Given the description of an element on the screen output the (x, y) to click on. 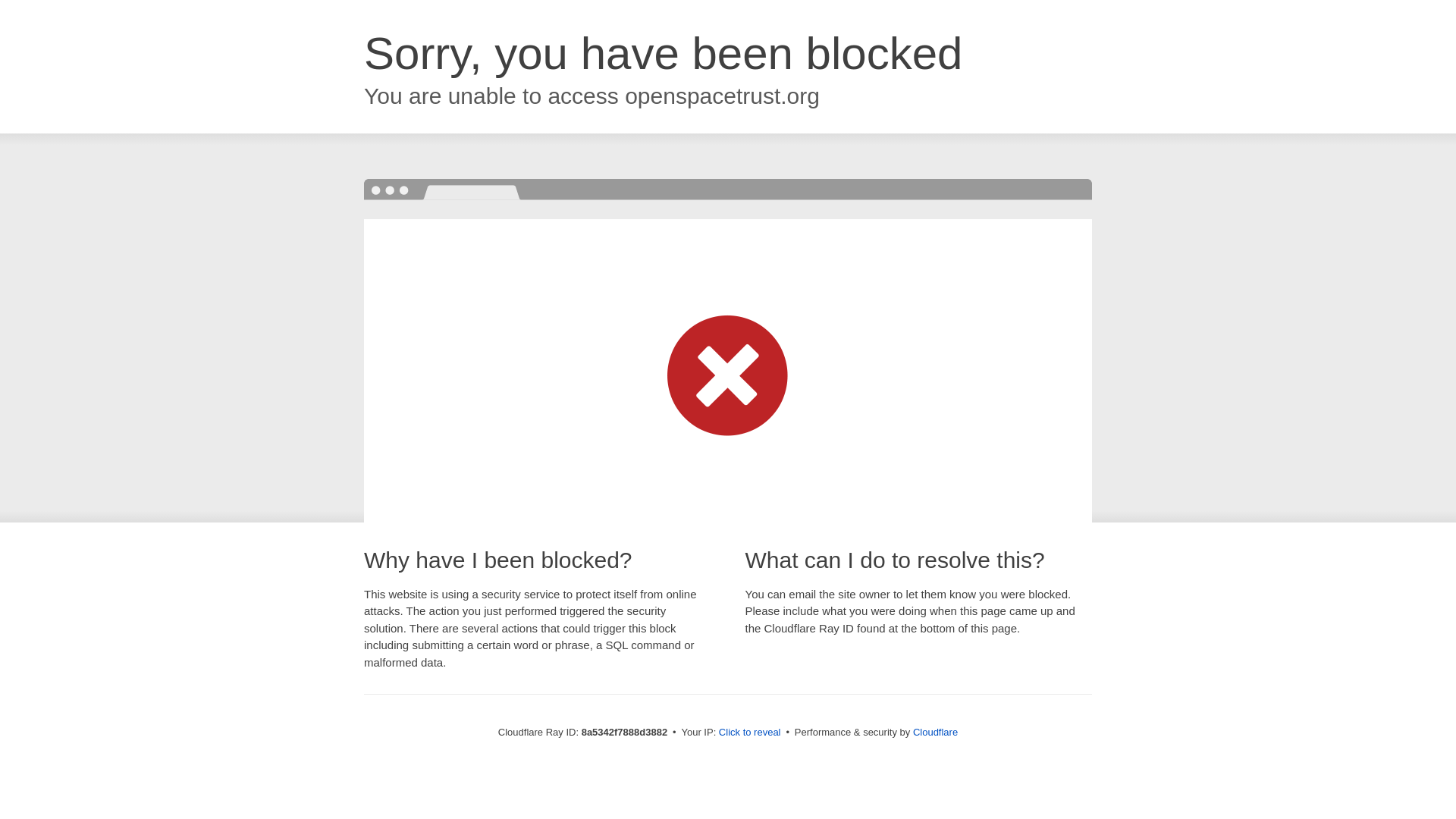
Cloudflare (935, 731)
Click to reveal (749, 732)
